Given the description of an element on the screen output the (x, y) to click on. 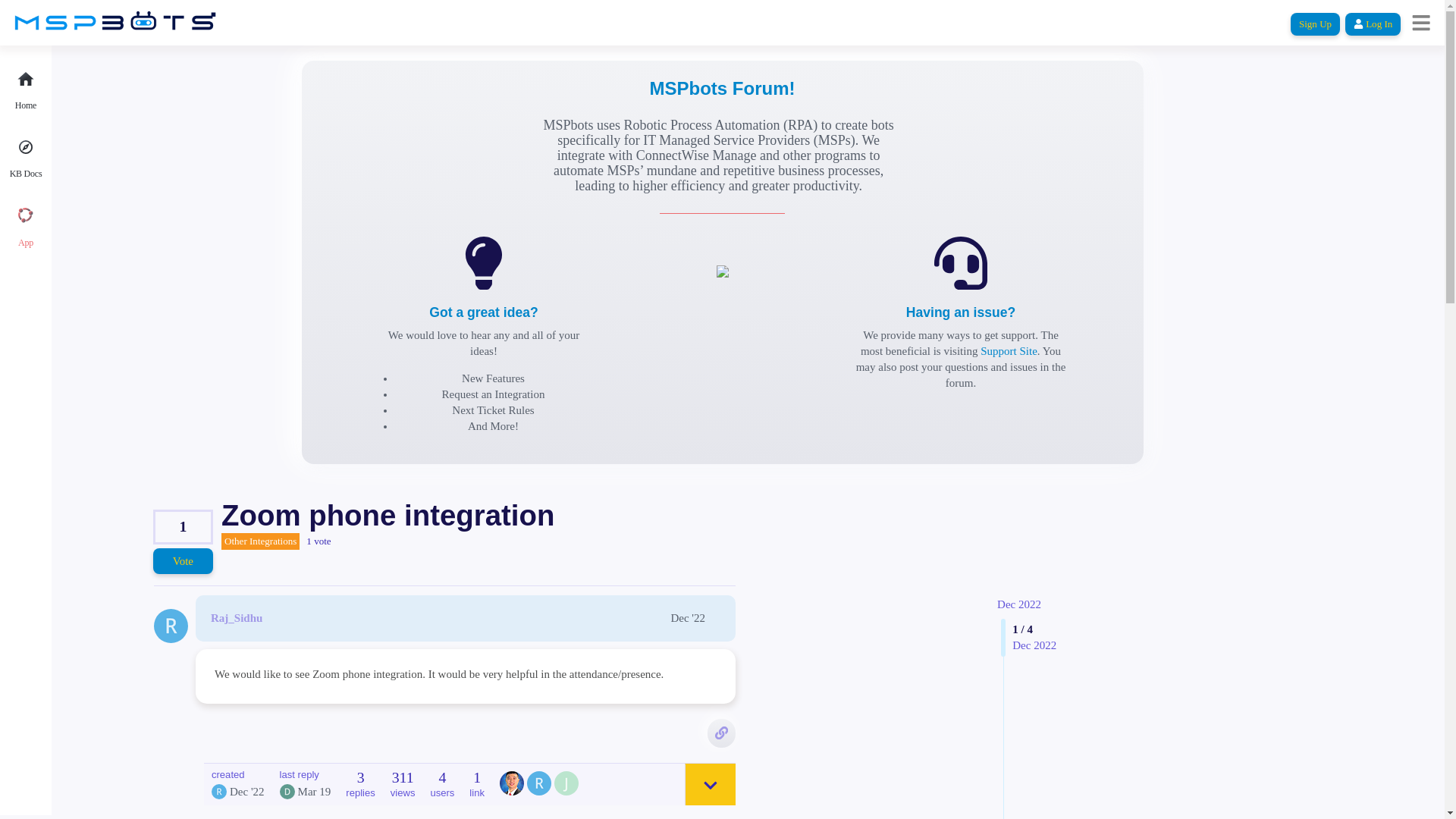
expand topic details (709, 784)
1 vote (317, 540)
Sign Up (1314, 23)
Mar 19, 2024 8:20 am (314, 791)
Dec '22 (686, 617)
Vote (182, 560)
menu (1421, 22)
Dec 2022 (1019, 604)
Log In (1372, 23)
Raj Sidhu (219, 791)
last reply (305, 774)
Daisy Brown (287, 791)
Daniel Wang (511, 783)
Other Integrations (260, 541)
